Given the description of an element on the screen output the (x, y) to click on. 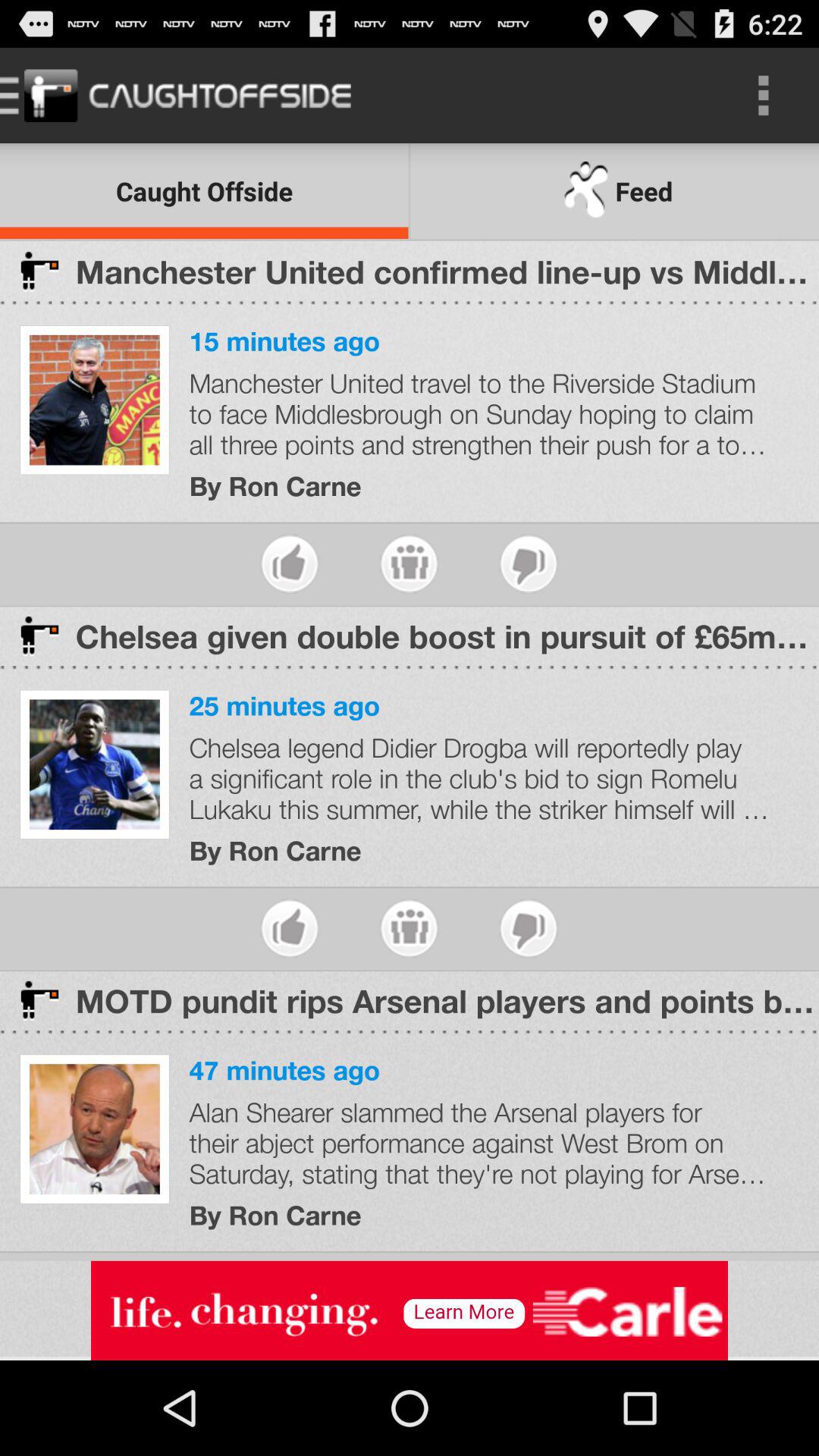
icon on 25 minutes ago between thumbs up and thumbs down (409, 928)
